Given the description of an element on the screen output the (x, y) to click on. 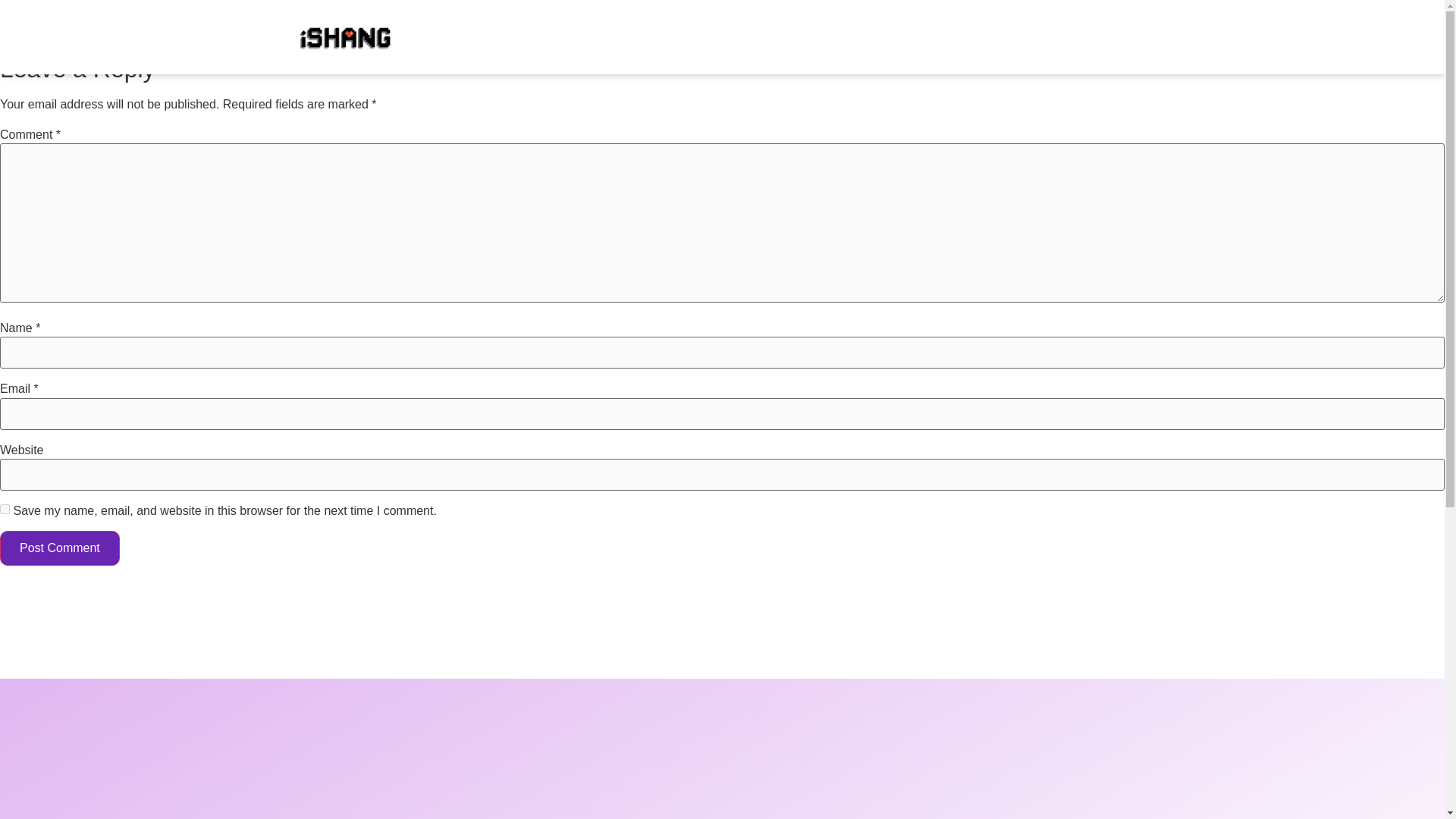
Post Comment (59, 547)
yes (5, 509)
Post Comment (59, 547)
